Given the description of an element on the screen output the (x, y) to click on. 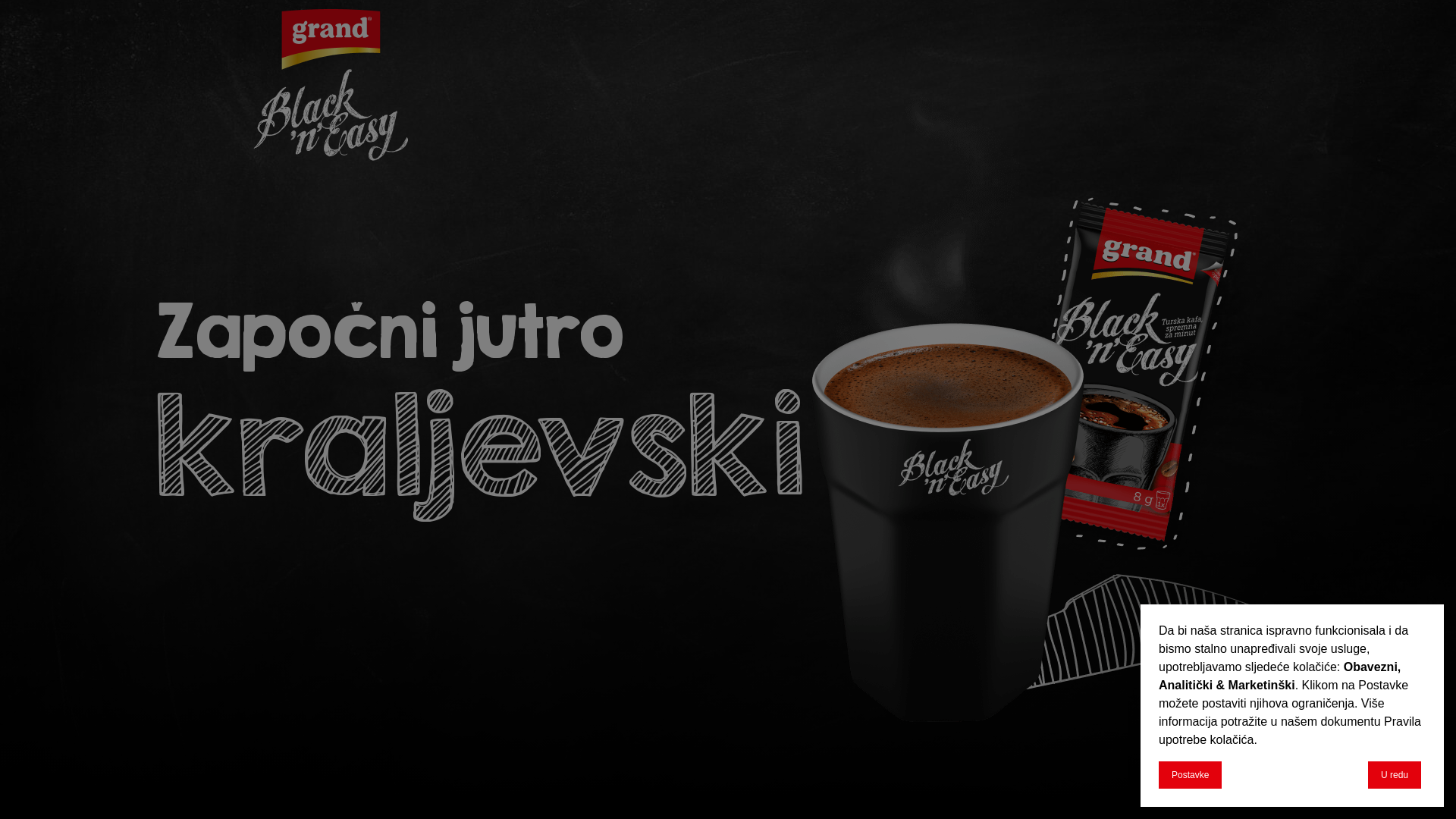
Postavke Element type: text (1189, 774)
U redu Element type: text (1394, 774)
